Given the description of an element on the screen output the (x, y) to click on. 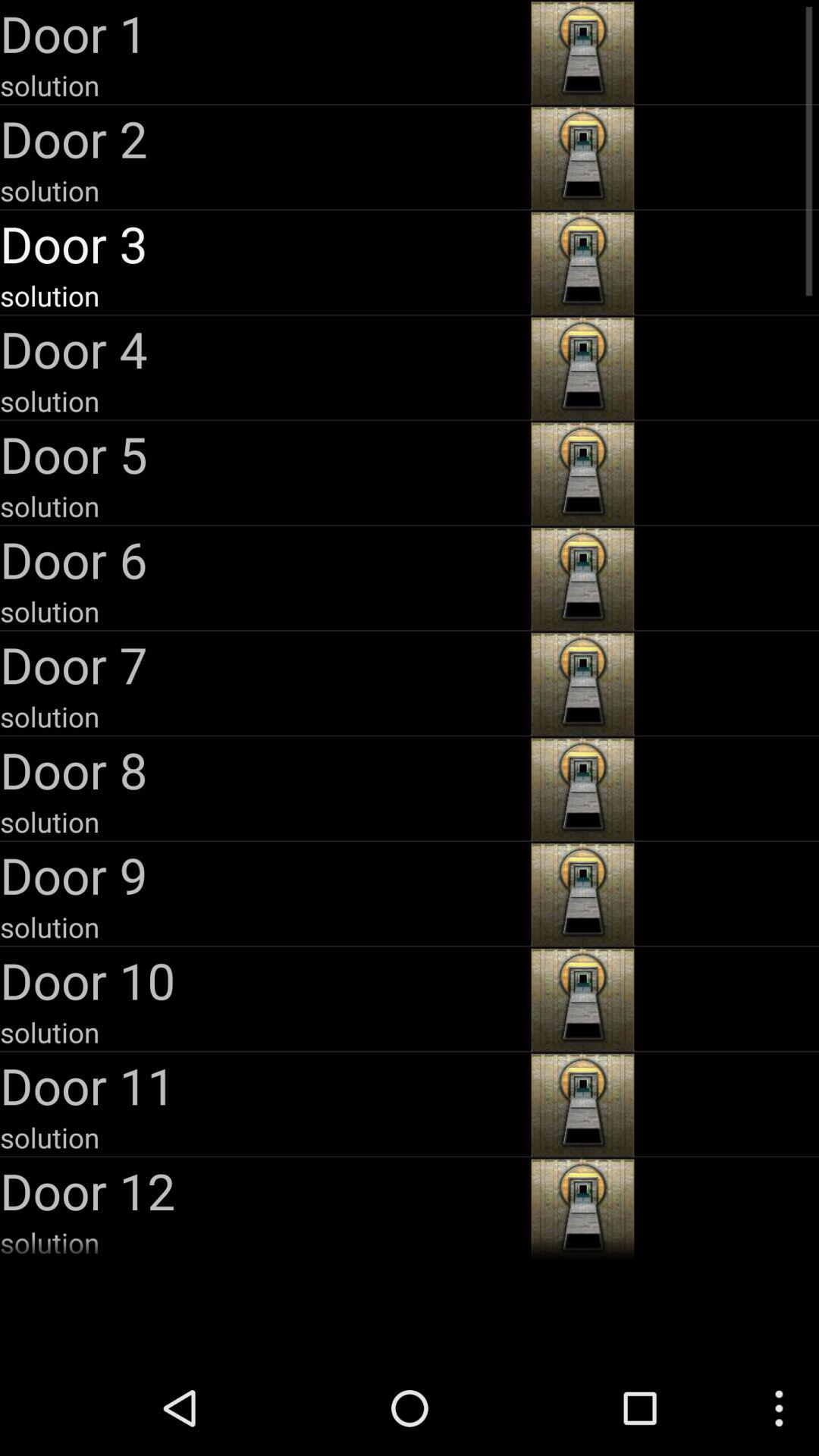
turn on door 9 item (263, 874)
